Given the description of an element on the screen output the (x, y) to click on. 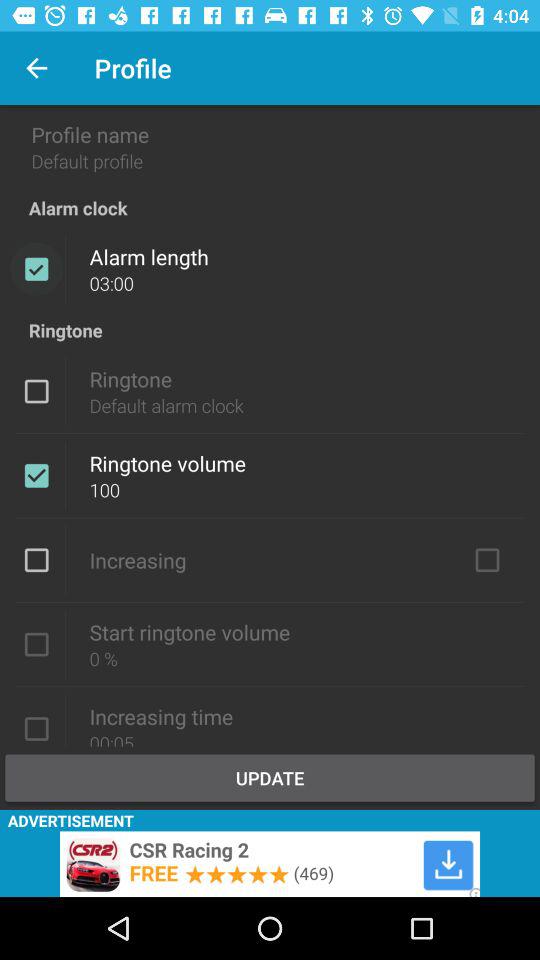
select alarm (36, 269)
